Given the description of an element on the screen output the (x, y) to click on. 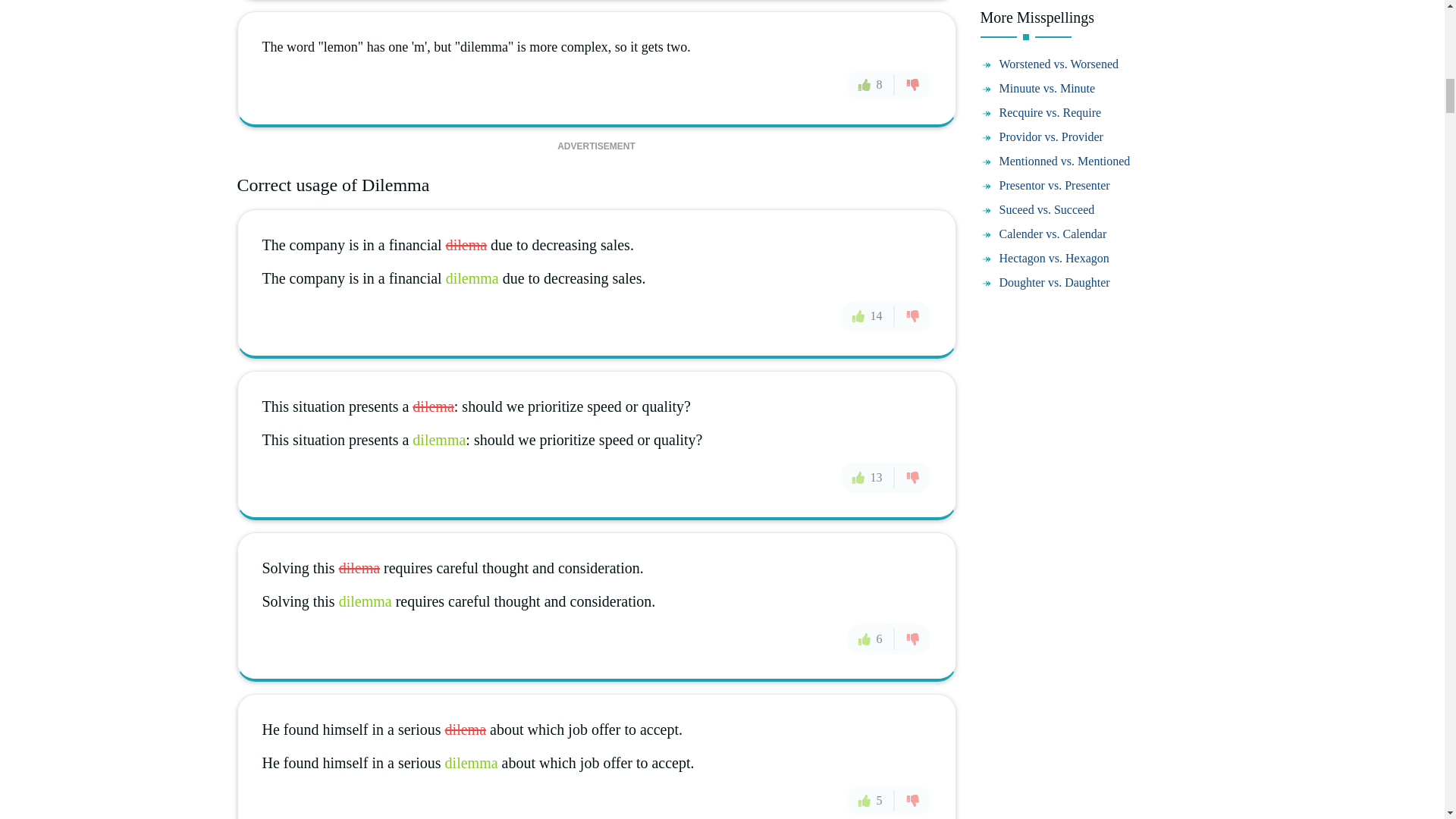
6 (870, 638)
5 (870, 800)
13 (867, 477)
8 (870, 84)
14 (867, 315)
